Given the description of an element on the screen output the (x, y) to click on. 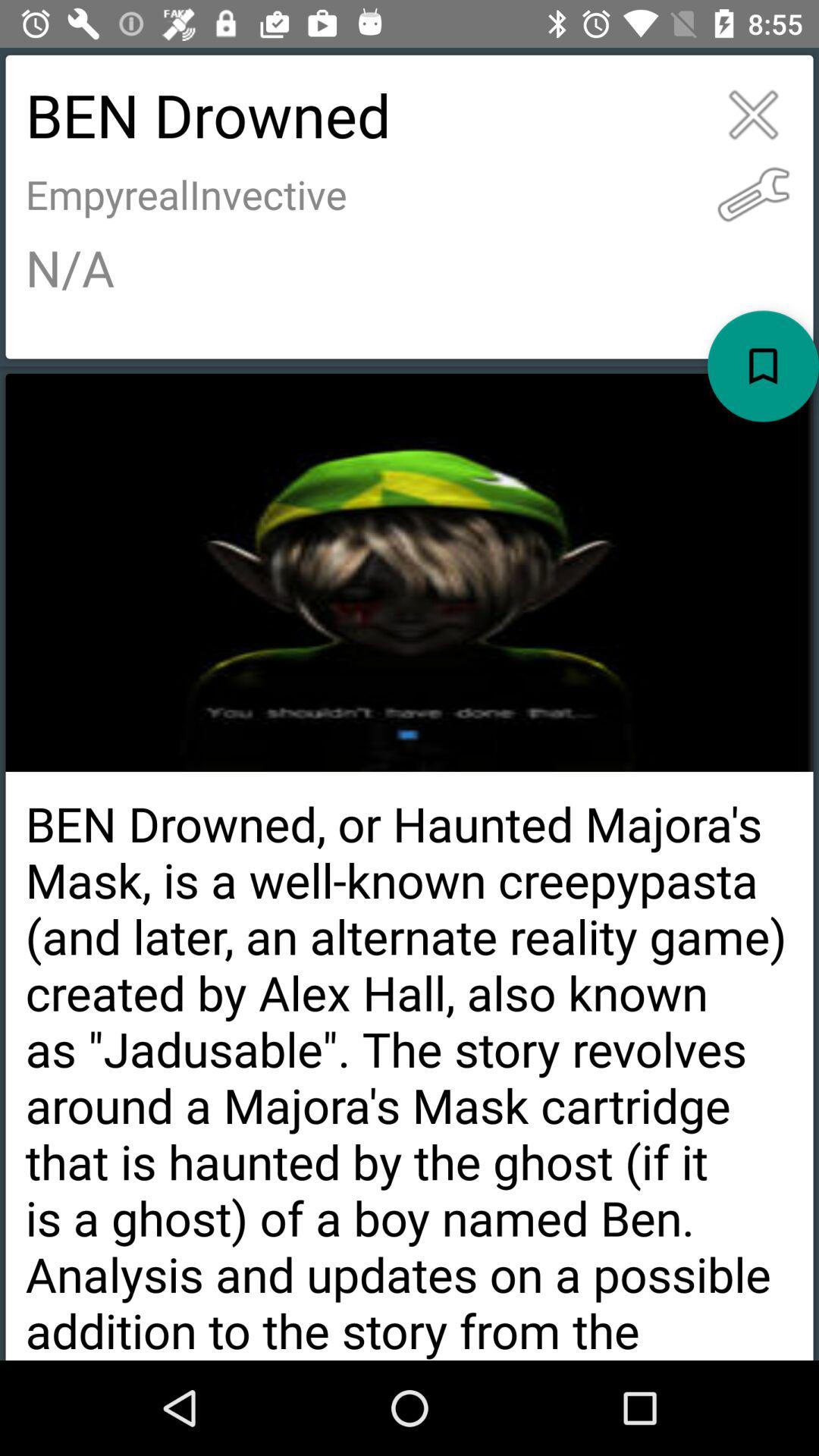
click icon next to the ben drowned item (753, 114)
